Given the description of an element on the screen output the (x, y) to click on. 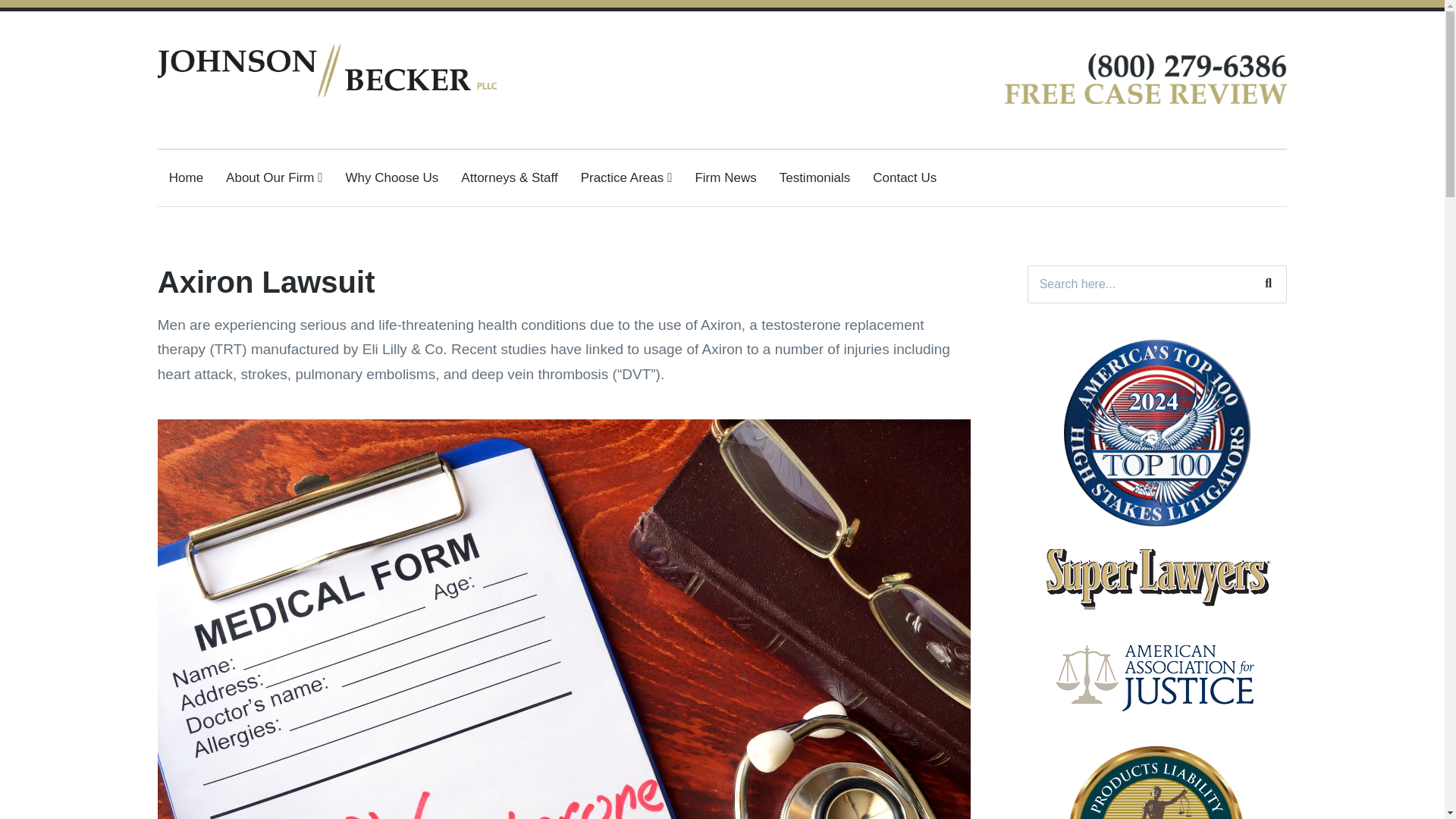
Contact Us (904, 177)
About Our Firm (273, 177)
Practice Areas (626, 177)
Testimonials (814, 177)
Firm News (724, 177)
Why Choose Us (392, 177)
Home (185, 177)
